Given the description of an element on the screen output the (x, y) to click on. 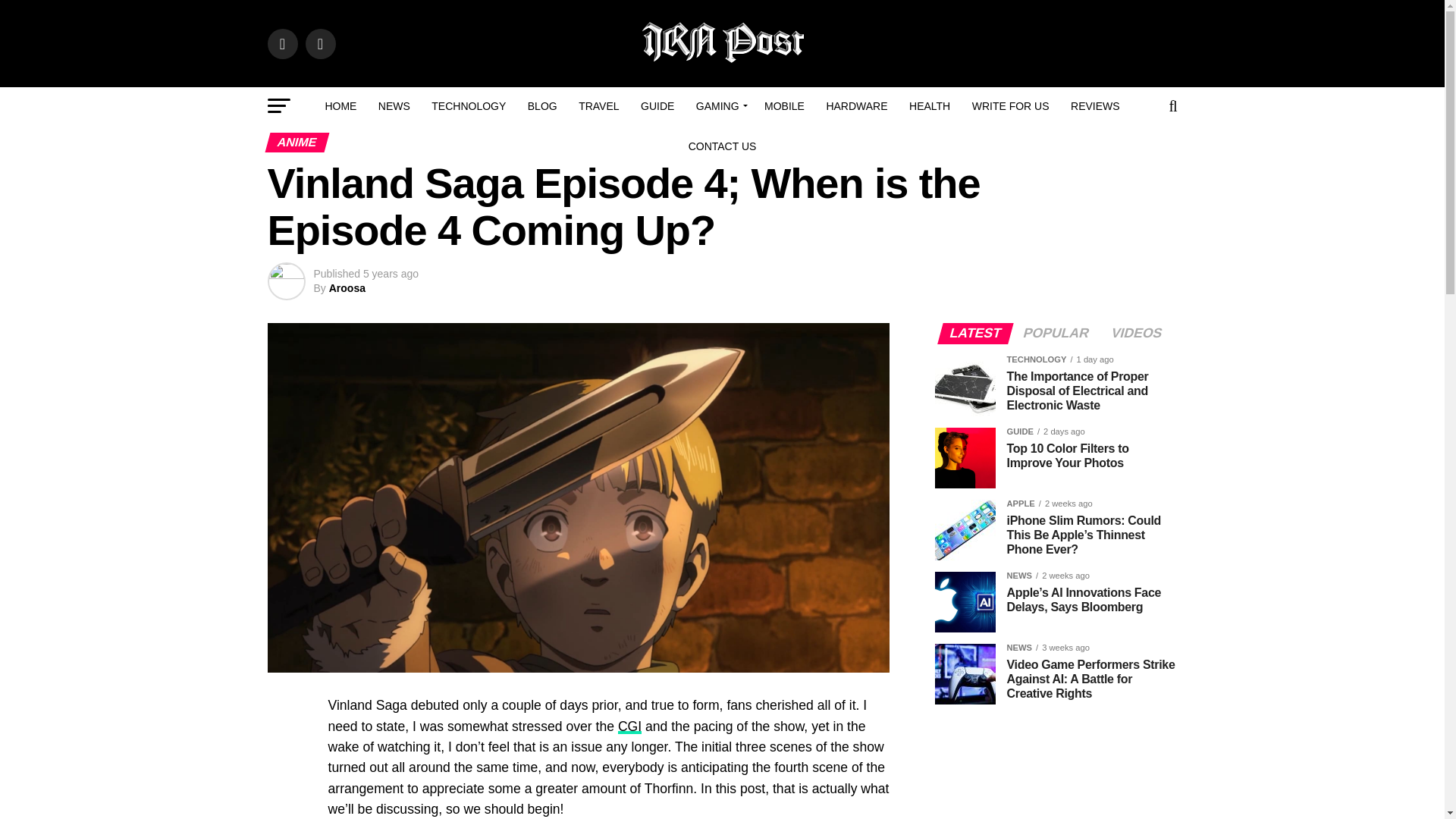
GUIDE (656, 105)
BLOG (542, 105)
NEWS (394, 105)
GAMING (719, 105)
Posts by Aroosa (347, 287)
TRAVEL (598, 105)
TECHNOLOGY (468, 105)
HOME (340, 105)
